Given the description of an element on the screen output the (x, y) to click on. 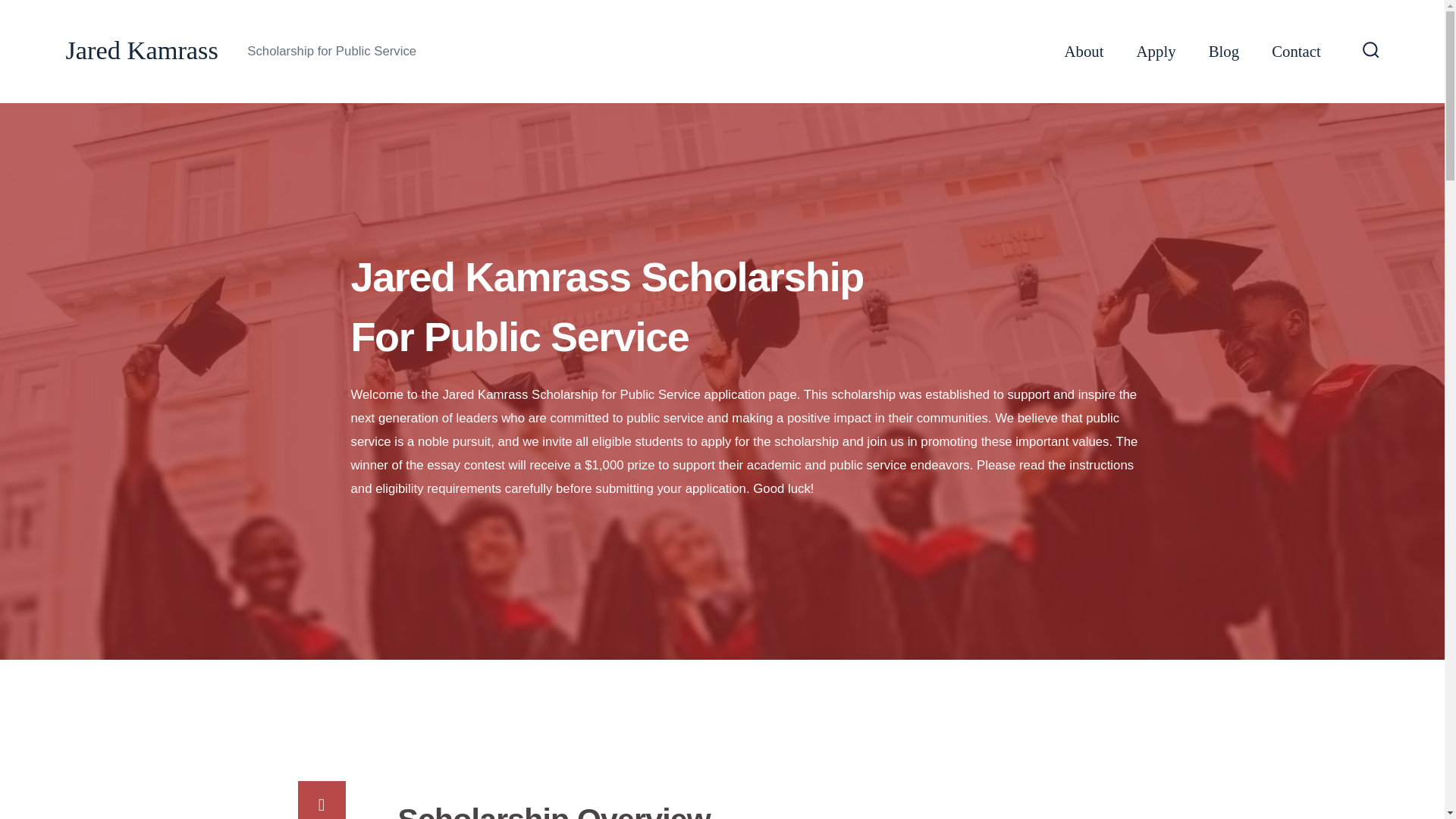
Jared Kamrass (141, 51)
Contact (1295, 51)
Apply (1156, 51)
About (1083, 51)
Blog (1223, 51)
